Given the description of an element on the screen output the (x, y) to click on. 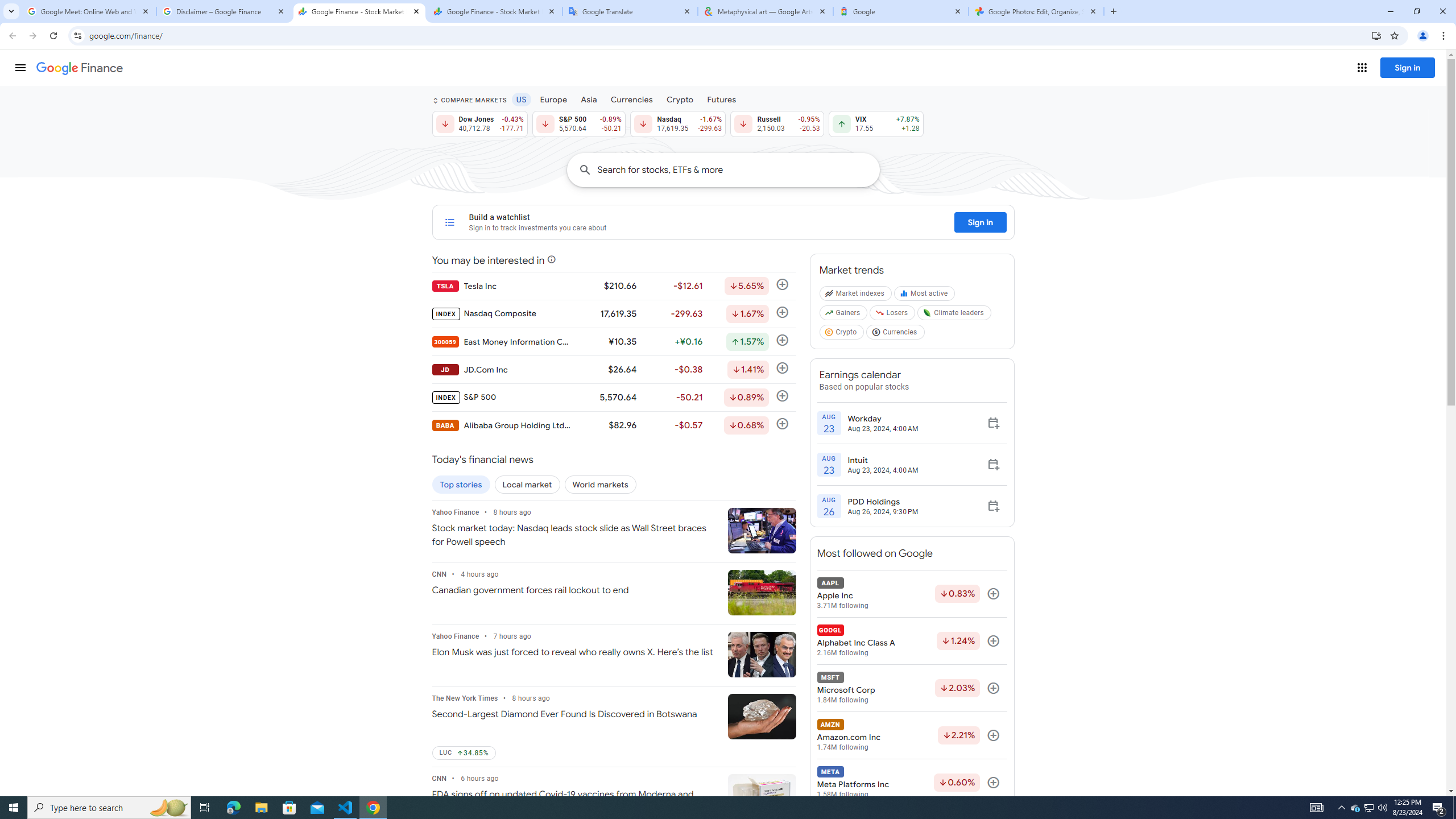
Add to calendar (993, 506)
LUC Up by 34.85% (463, 753)
Nasdaq 17,619.35 Down by 1.67% -299.63 (678, 123)
US (521, 99)
Gainers (844, 315)
TSLA Tesla Inc $210.66 -$12.61 Down by 5.65% Follow (613, 285)
